Given the description of an element on the screen output the (x, y) to click on. 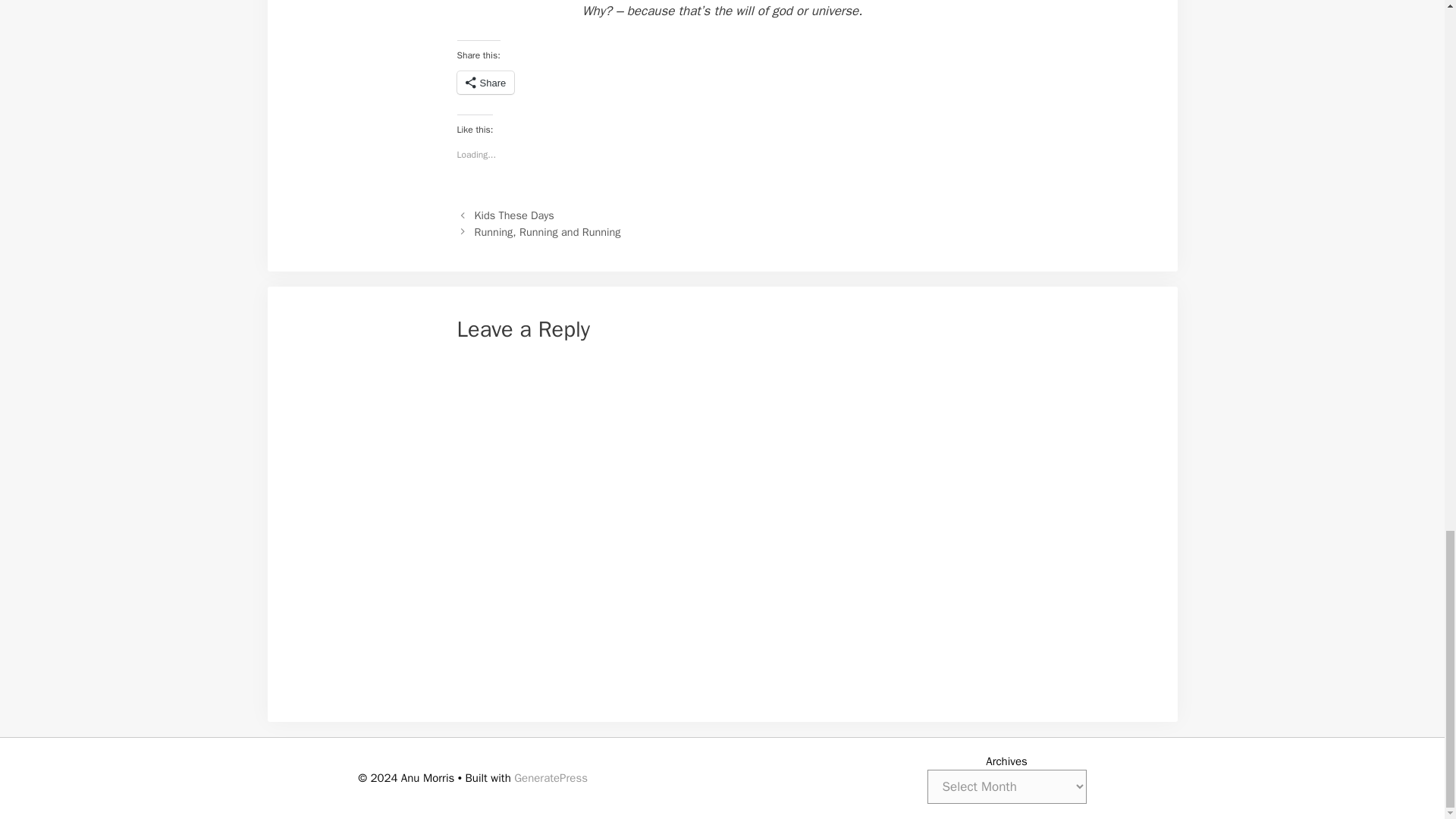
Kids These Days (514, 214)
Share (485, 82)
GeneratePress (550, 777)
Scroll back to top (1406, 9)
Running, Running and Running (547, 232)
